Given the description of an element on the screen output the (x, y) to click on. 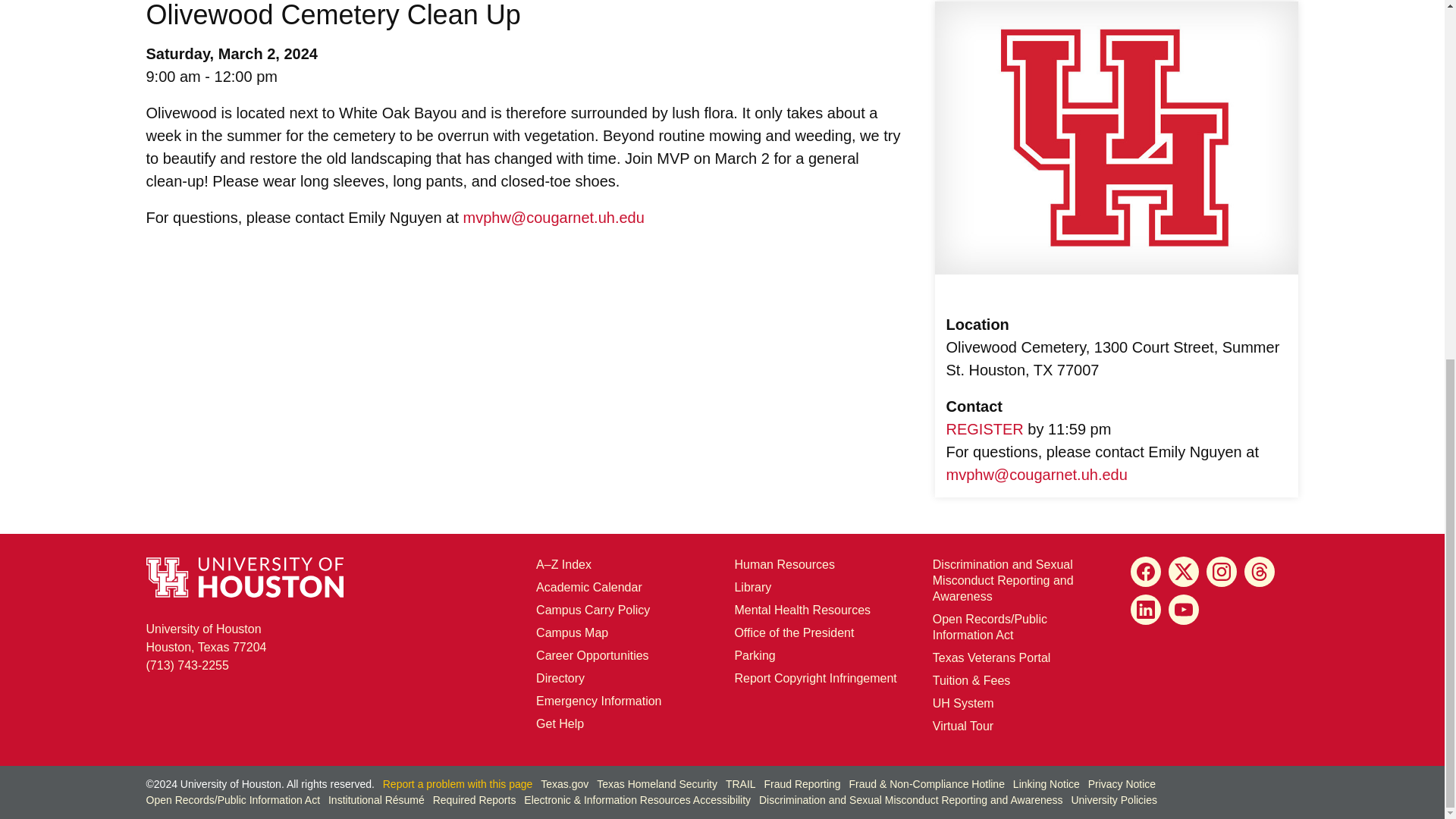
University of Houston (606, 217)
University of Houston (1089, 474)
LinkedIn (1145, 609)
YouTube (1183, 609)
X (1183, 571)
Campus Carry Policy (592, 609)
Instagram (1221, 571)
REGISTER (984, 428)
Facebook (205, 637)
Academic Calendar (1145, 571)
University of Houston (588, 586)
Campus Map (941, 703)
Threads (571, 632)
